Given the description of an element on the screen output the (x, y) to click on. 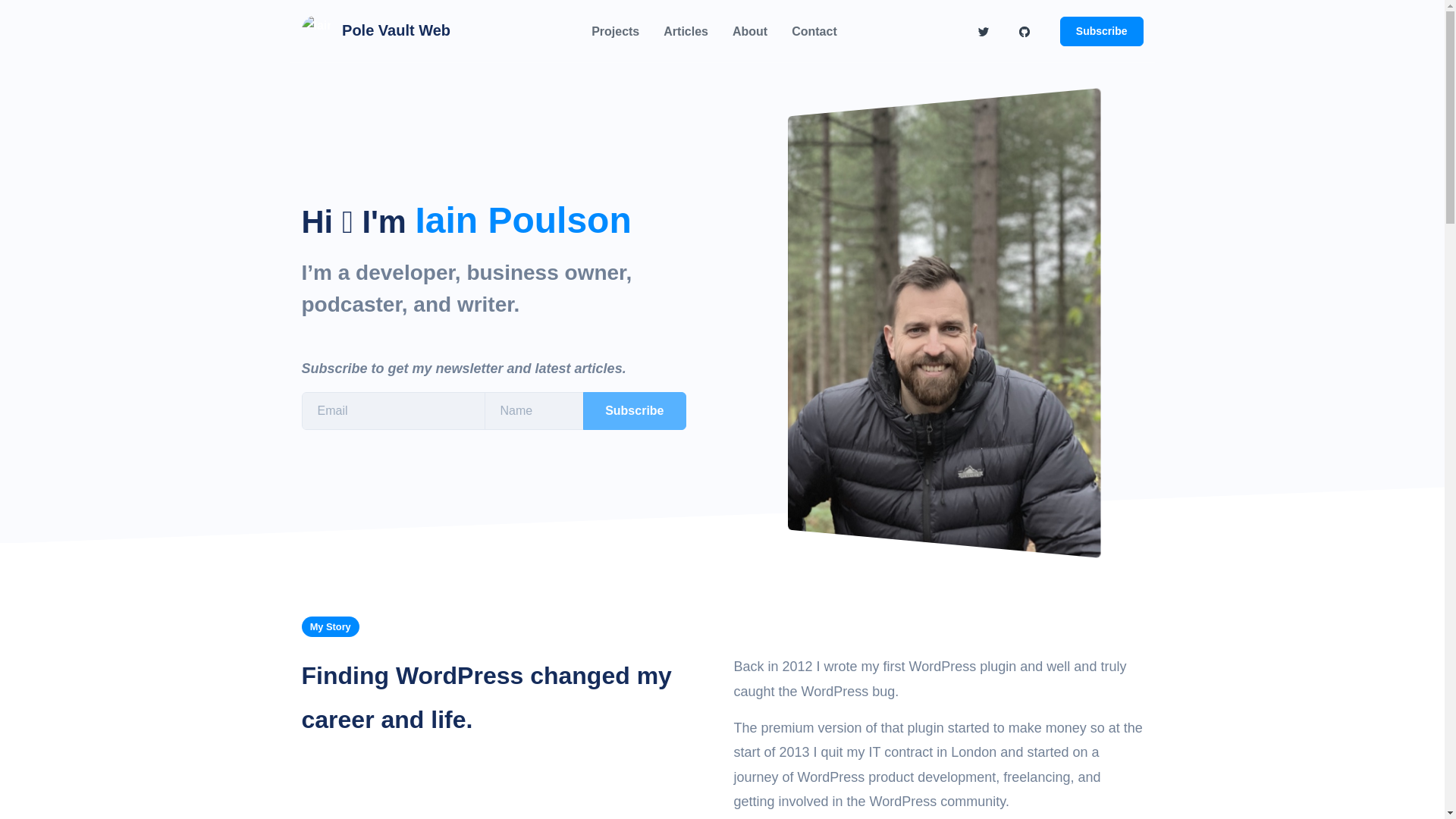
Subscribe (1100, 30)
About (749, 31)
Articles (685, 31)
Projects (614, 31)
Subscribe (634, 410)
Contact (813, 31)
Pole Vault Web (376, 30)
